Given the description of an element on the screen output the (x, y) to click on. 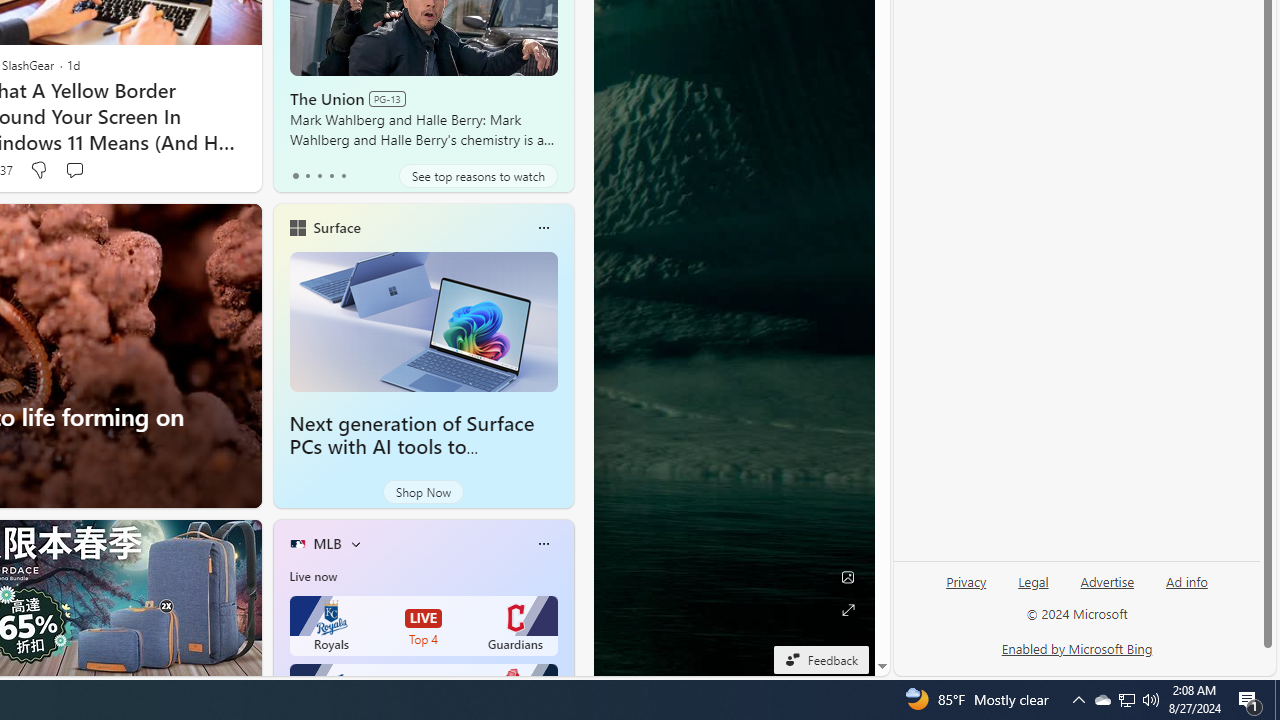
Shop Now (422, 491)
Edit Background (847, 577)
More interests (355, 543)
tab-3 (331, 175)
tab-4 (342, 175)
tab-2 (319, 175)
